Given the description of an element on the screen output the (x, y) to click on. 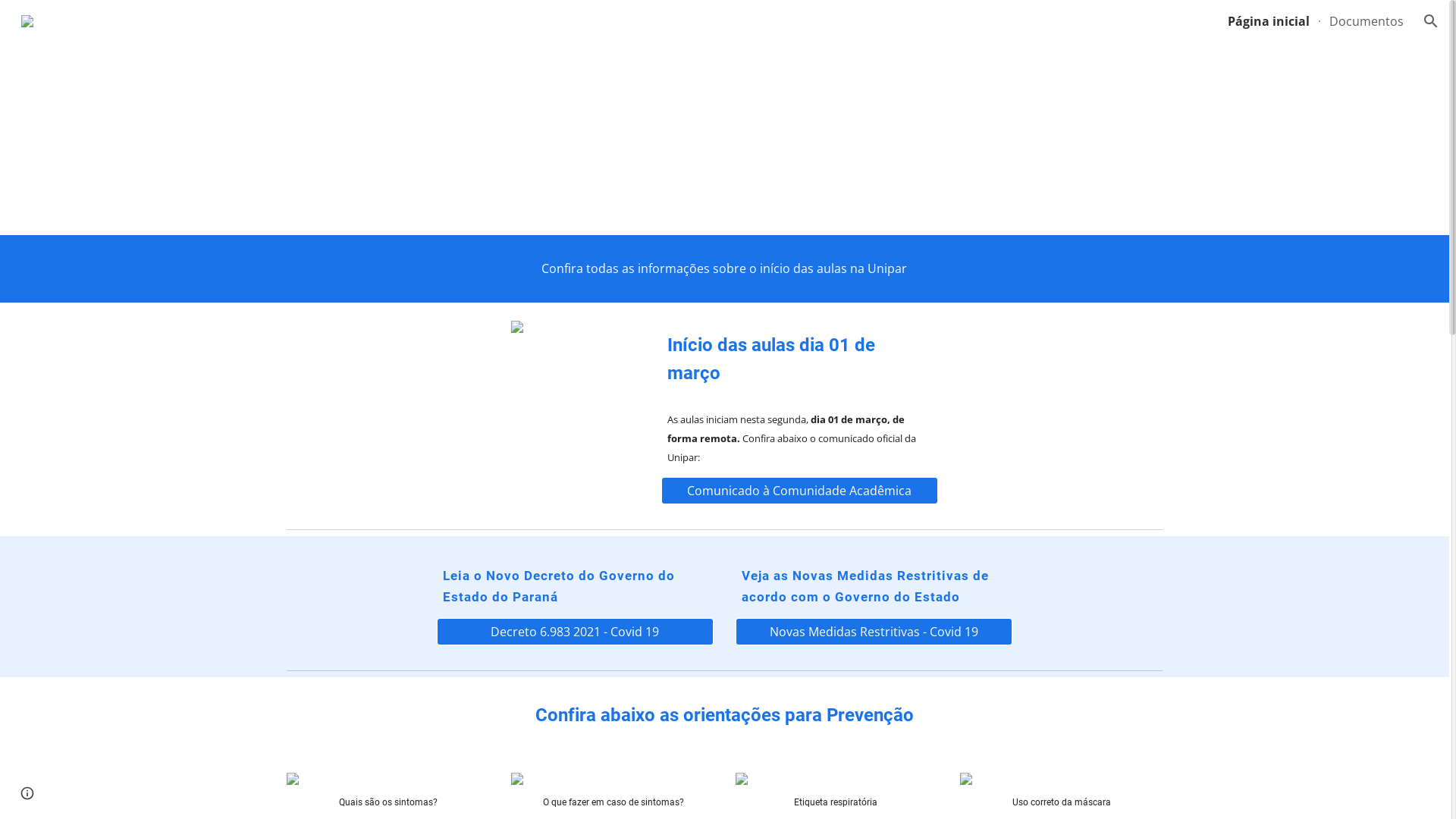
Documentos Element type: text (1366, 20)
Decreto 6.983 2021 - Covid 19 Element type: text (574, 631)
Novas Medidas Restritivas - Covid 19 Element type: text (873, 631)
